Given the description of an element on the screen output the (x, y) to click on. 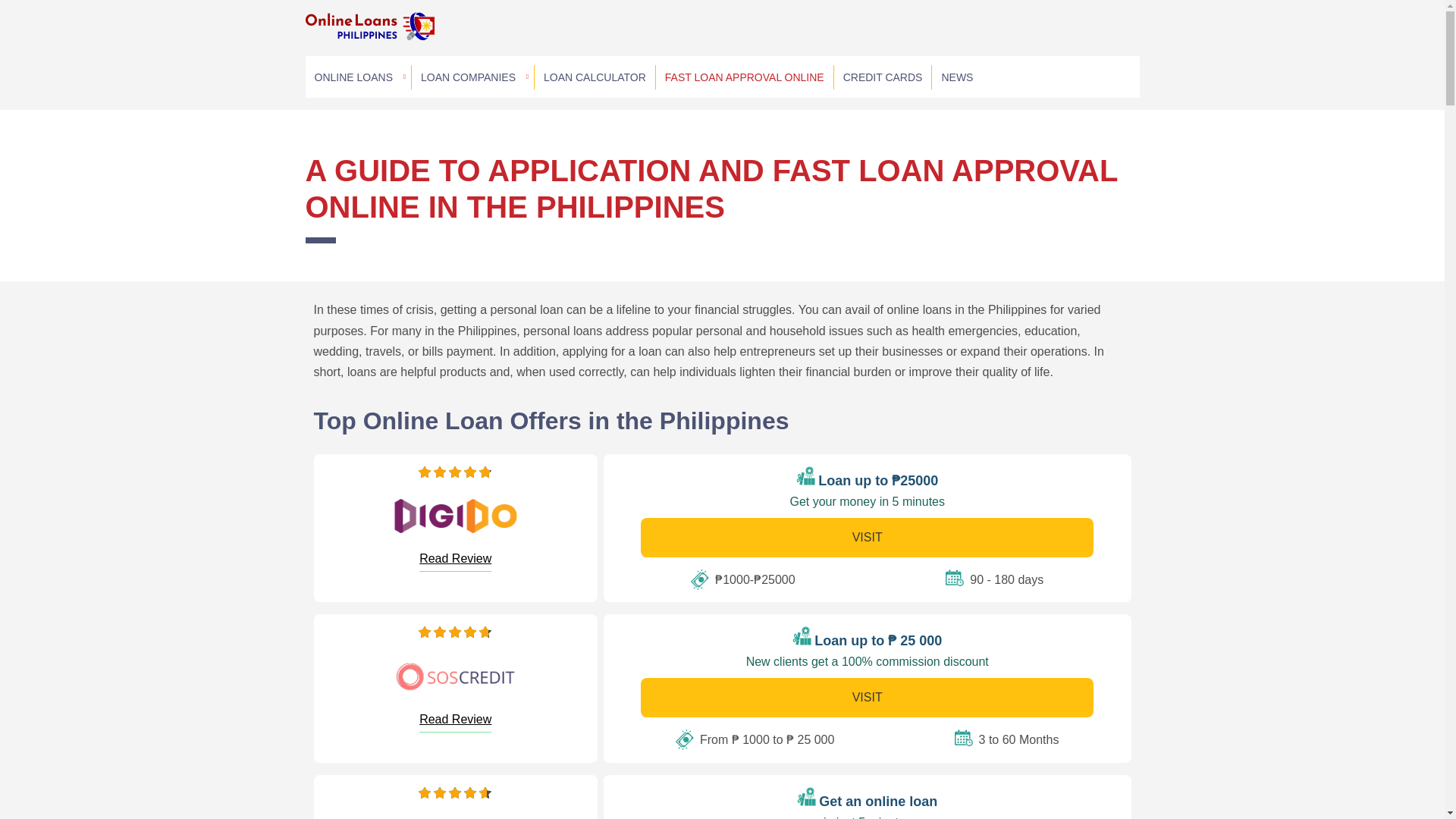
ONLINE LOANS (357, 77)
Online Loans Philippines (368, 33)
